Given the description of an element on the screen output the (x, y) to click on. 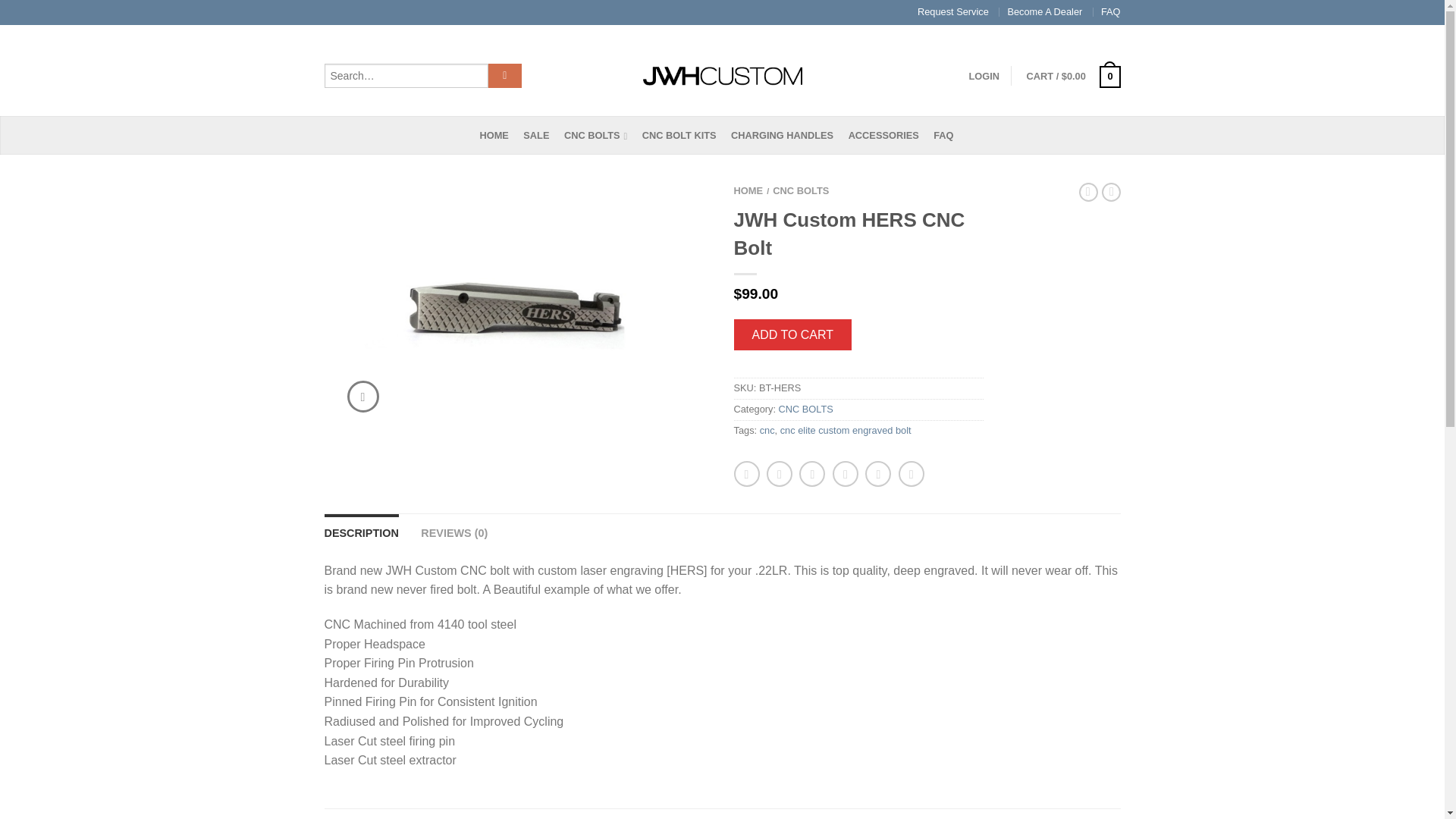
HOME (499, 135)
CNC BOLTS (800, 190)
DSC01035 (517, 305)
LOGIN (984, 76)
ACCESSORIES (889, 135)
ADD TO CART (792, 334)
CNC BOLTS (601, 135)
SALE (541, 135)
FAQ (1110, 11)
FAQ (948, 135)
cnc (767, 430)
DESCRIPTION (361, 531)
HOME (747, 190)
Request Service (952, 11)
CNC BOLTS (805, 408)
